Given the description of an element on the screen output the (x, y) to click on. 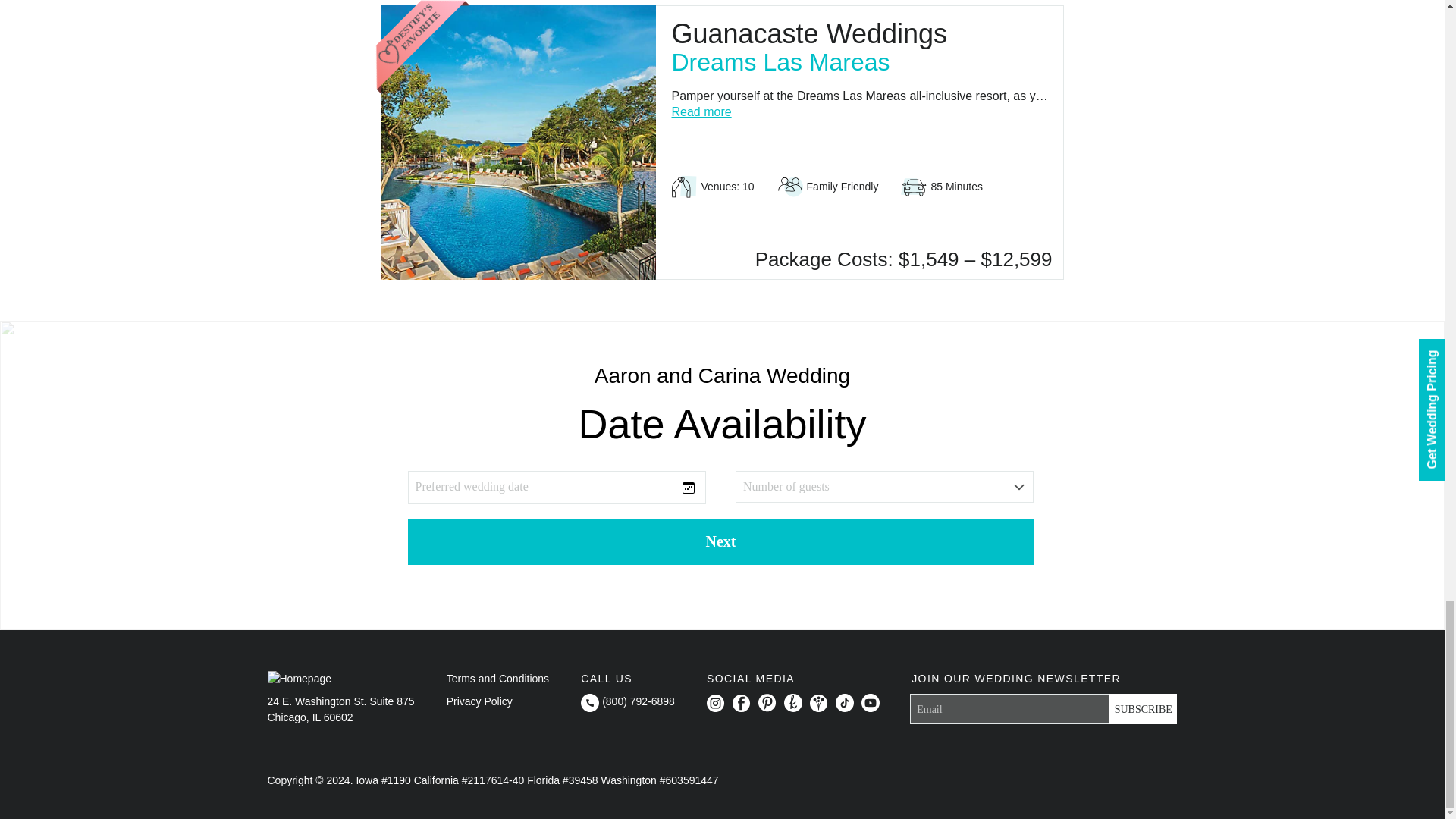
Homepage (298, 678)
